Given the description of an element on the screen output the (x, y) to click on. 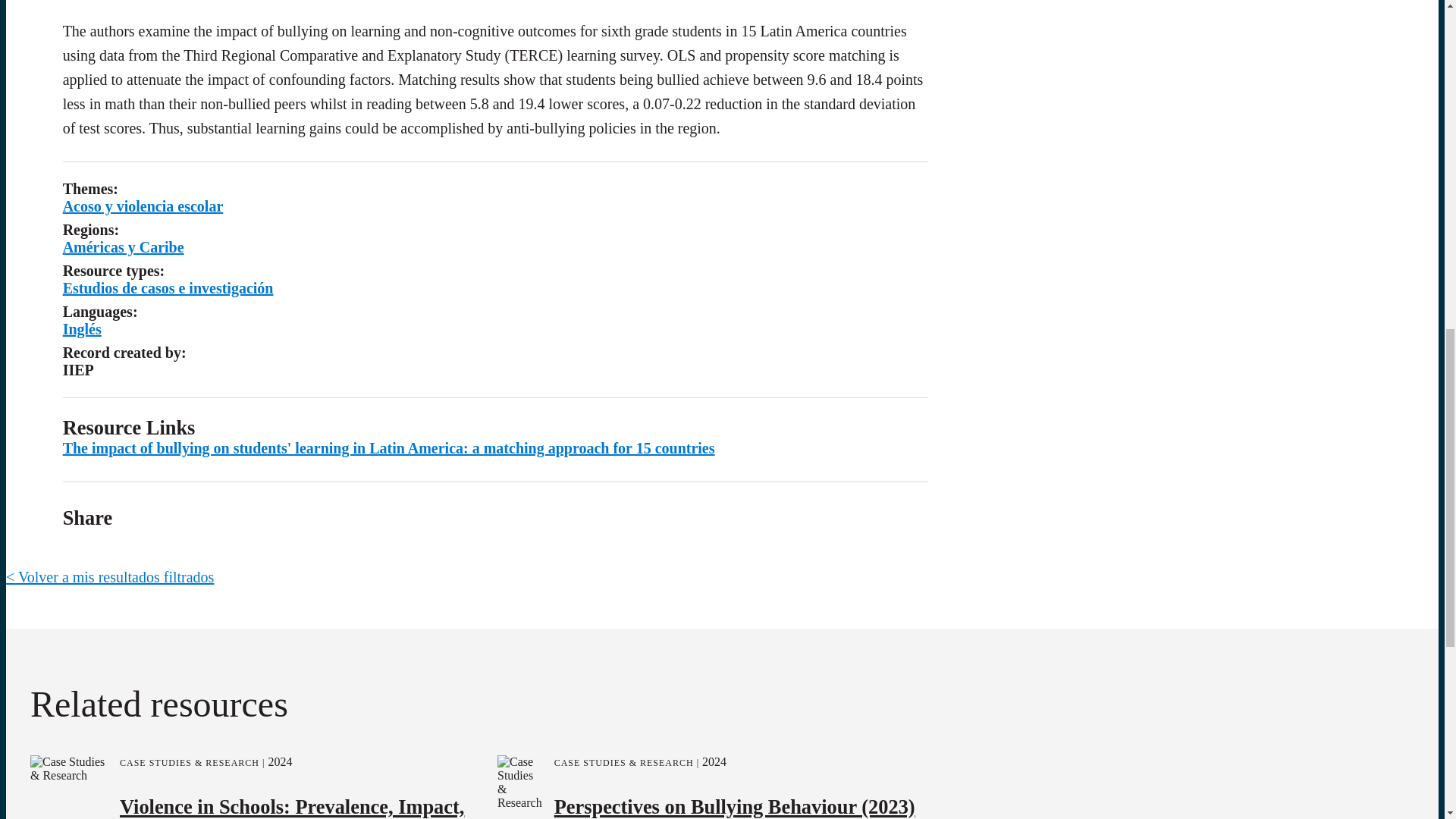
Violence in Schools: Prevalence, Impact, and Interventions (291, 644)
Acoso y violencia escolar (205, 116)
